Given the description of an element on the screen output the (x, y) to click on. 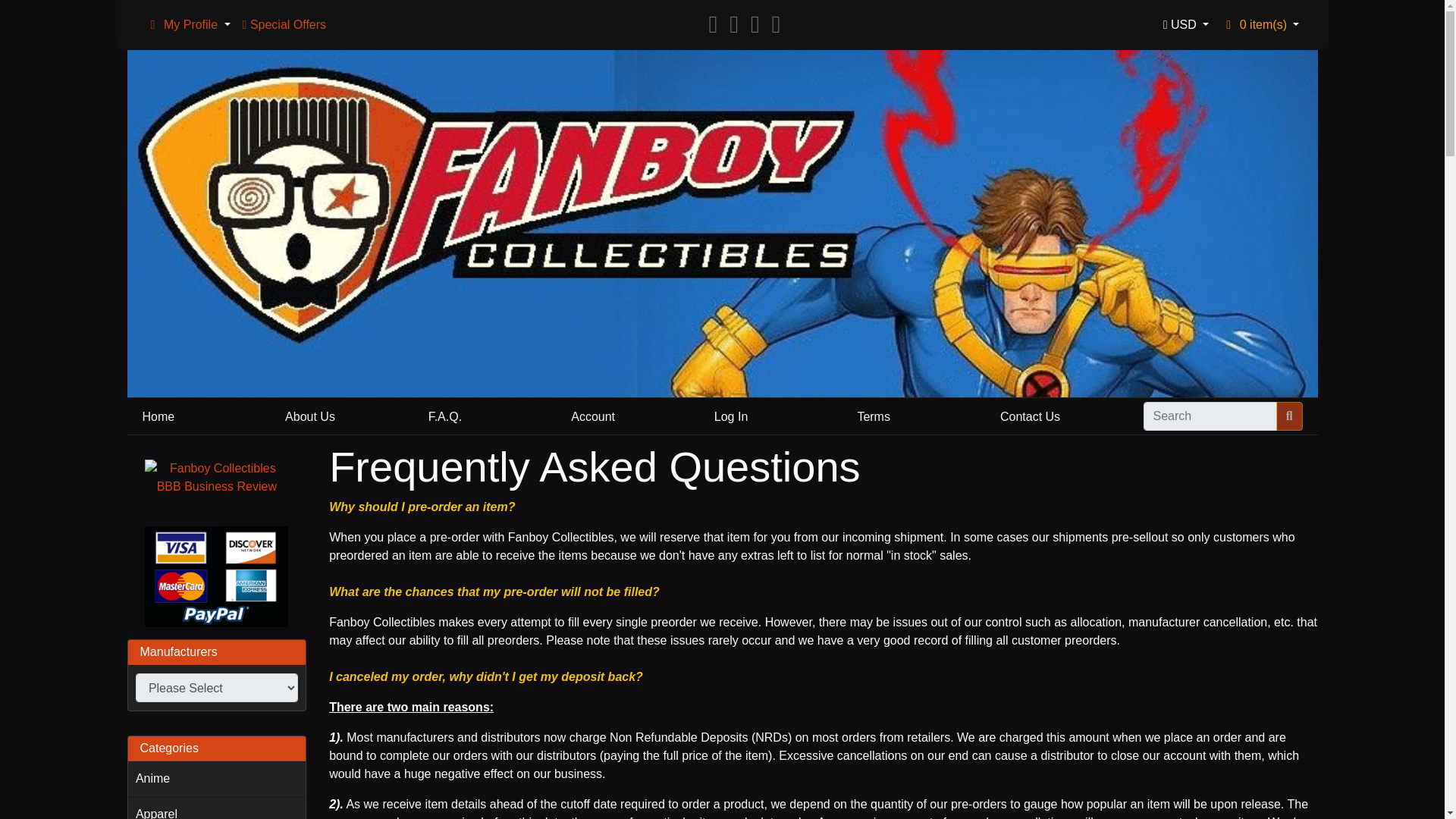
Account (592, 416)
My Profile (187, 24)
My Profile (152, 24)
Special Offers (283, 24)
Fanboy Collectibles BBB Business Review (217, 477)
About Us (309, 416)
Anime (216, 778)
Log In (731, 416)
Apparel (216, 807)
Home (158, 416)
